Given the description of an element on the screen output the (x, y) to click on. 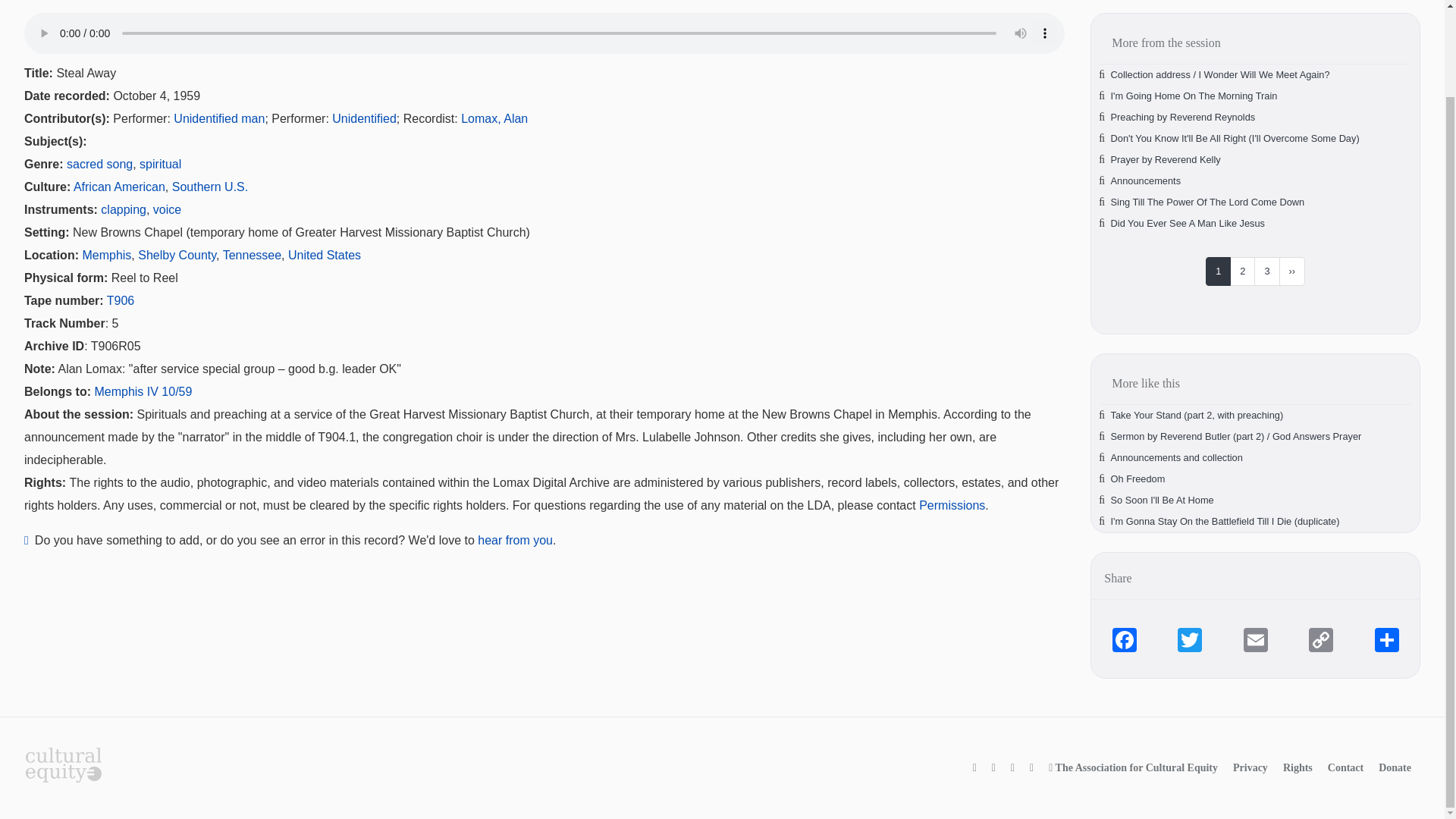
Southern U.S. (209, 186)
Unidentified man (218, 118)
sacred song (99, 164)
Memphis (106, 254)
spiritual (159, 164)
T906 (119, 300)
I'm Going Home On The Morning Train (1194, 95)
Unidentified (363, 118)
Shelby County (176, 254)
voice (166, 209)
